Given the description of an element on the screen output the (x, y) to click on. 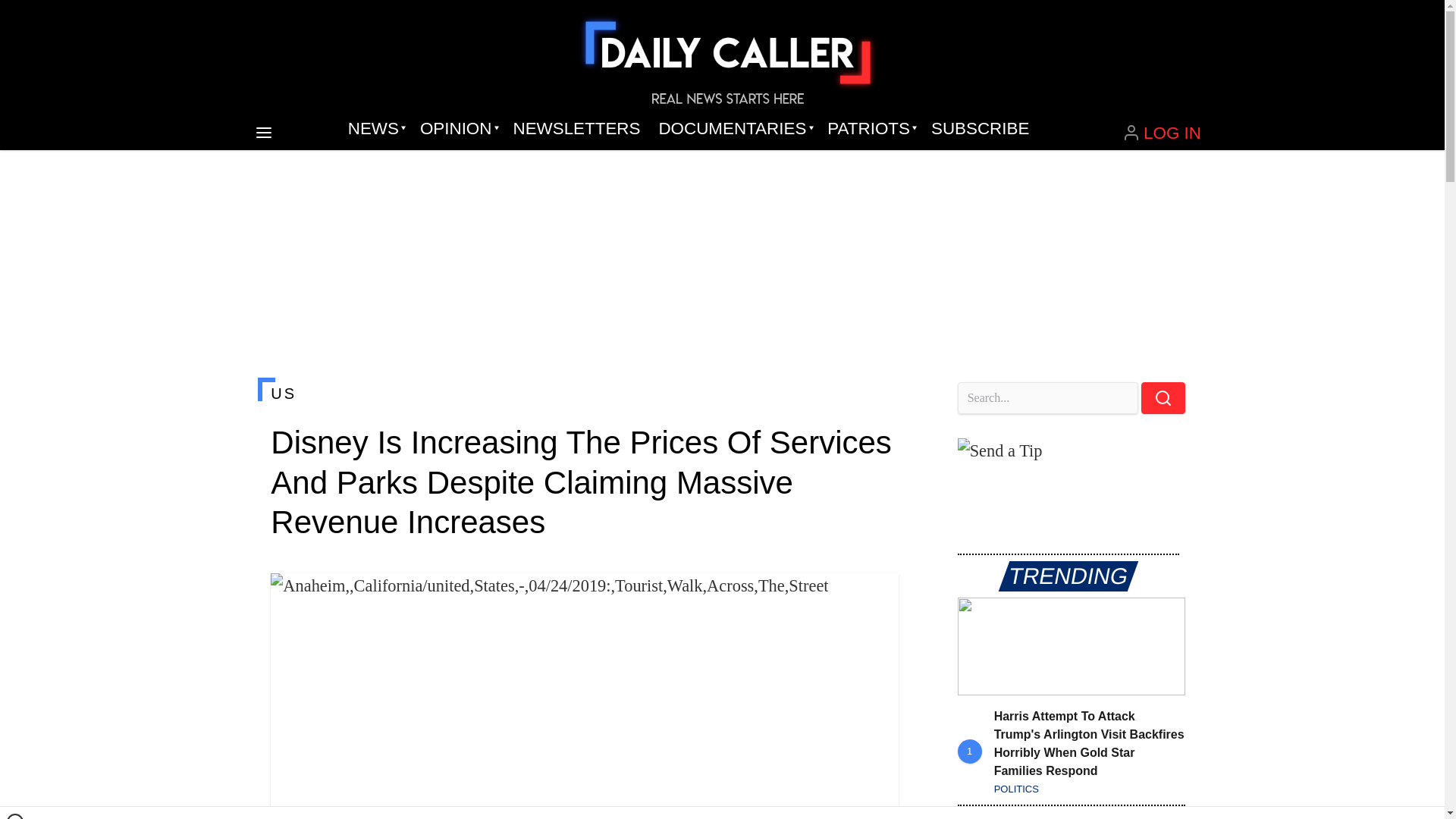
Toggle fullscreen (874, 596)
SUBSCRIBE (979, 128)
PATRIOTS (869, 128)
OPINION (456, 128)
NEWS (374, 128)
DOCUMENTARIES (733, 128)
US (584, 393)
NEWSLETTERS (576, 128)
Close window (14, 816)
